Given the description of an element on the screen output the (x, y) to click on. 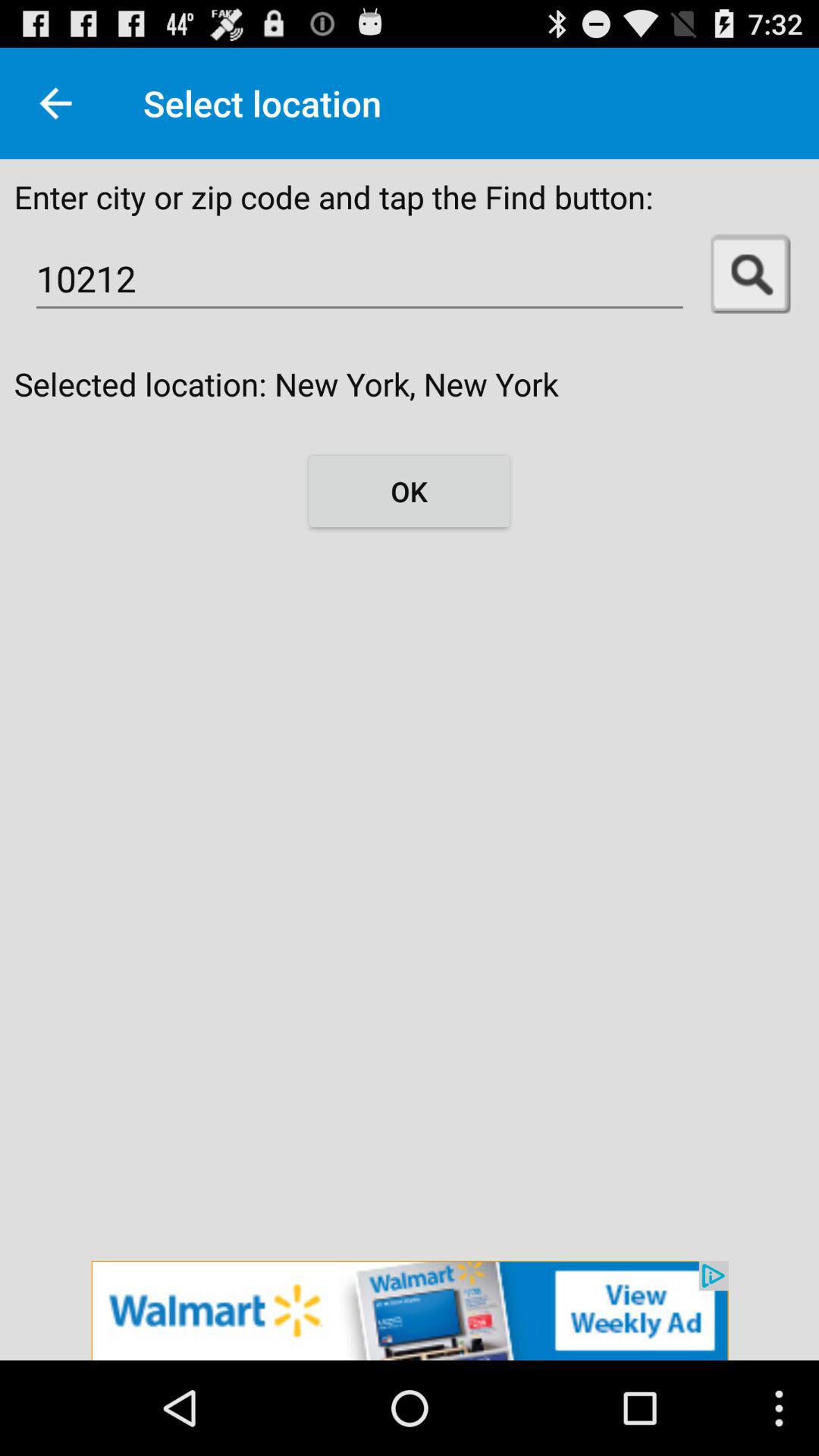
go to another site (409, 1310)
